Given the description of an element on the screen output the (x, y) to click on. 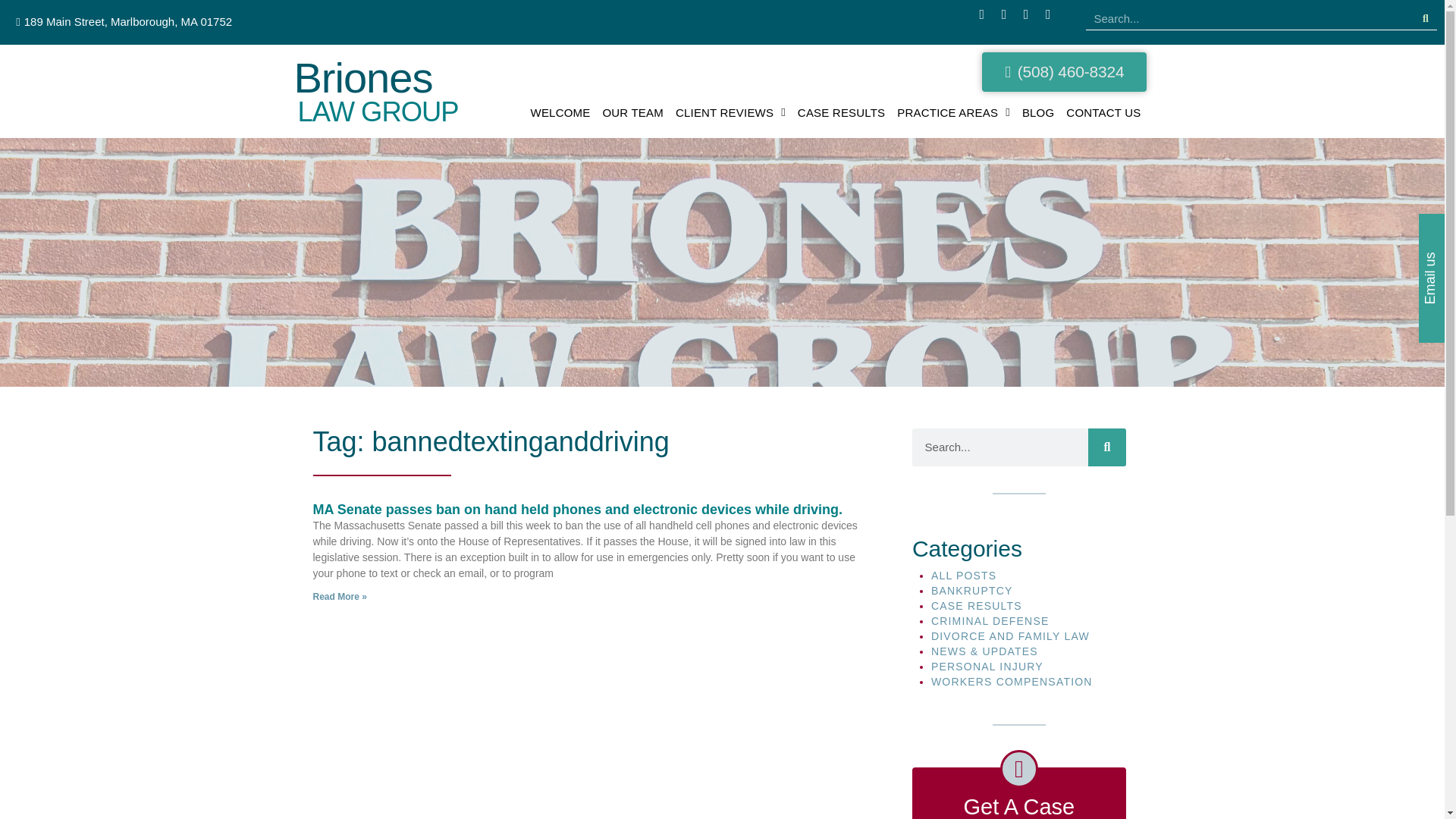
CLIENT REVIEWS (730, 112)
CONTACT US (1103, 112)
189 Main Street, Marlborough, MA 01752 (123, 21)
WELCOME (560, 112)
OUR TEAM (632, 112)
CASE RESULTS (841, 112)
Briones (363, 77)
BANKRUPTCY (972, 590)
LAW GROUP (377, 111)
BLOG (1037, 112)
ALL POSTS (964, 575)
PRACTICE AREAS (953, 112)
